Given the description of an element on the screen output the (x, y) to click on. 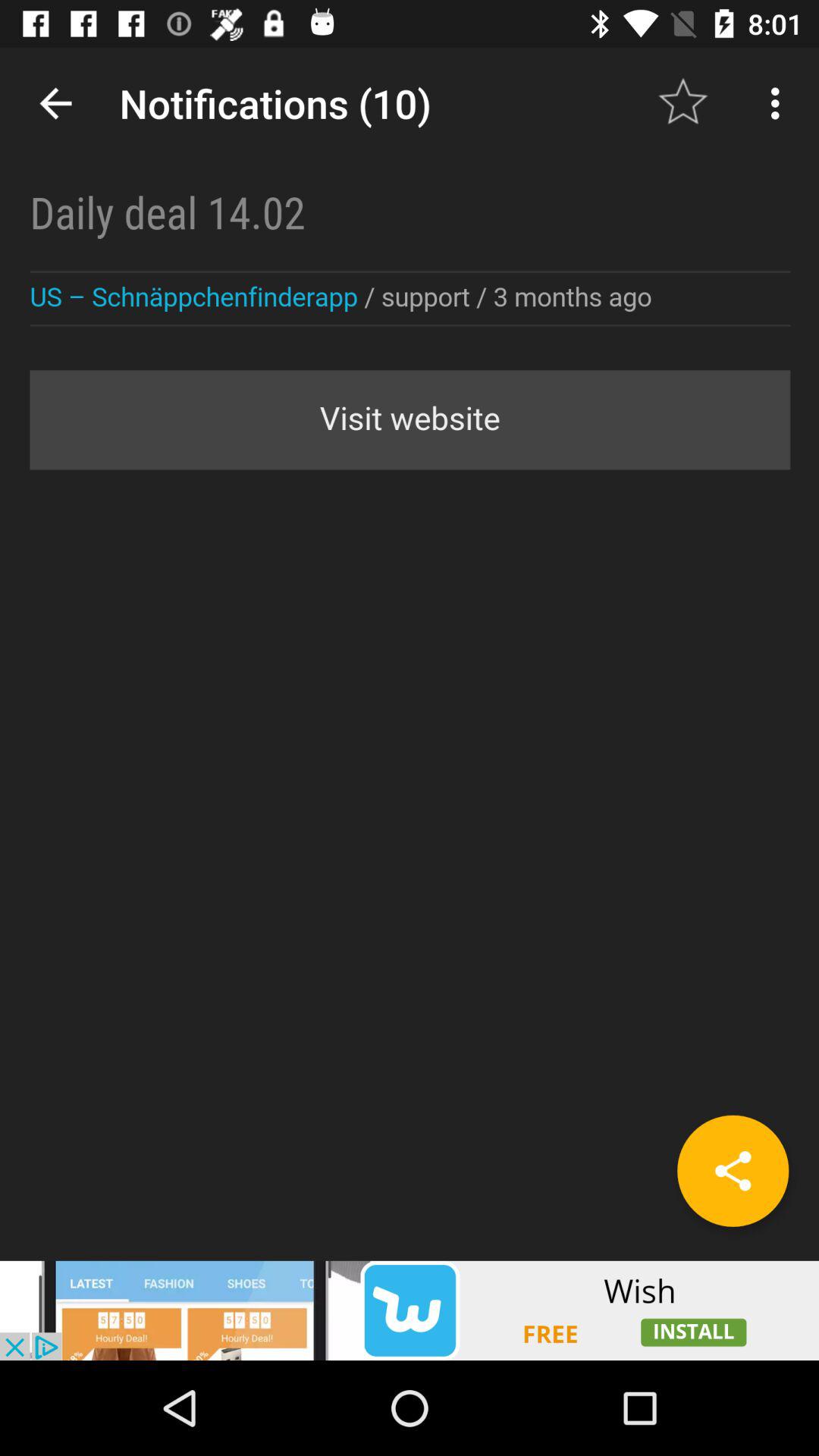
notifications button (409, 653)
